Given the description of an element on the screen output the (x, y) to click on. 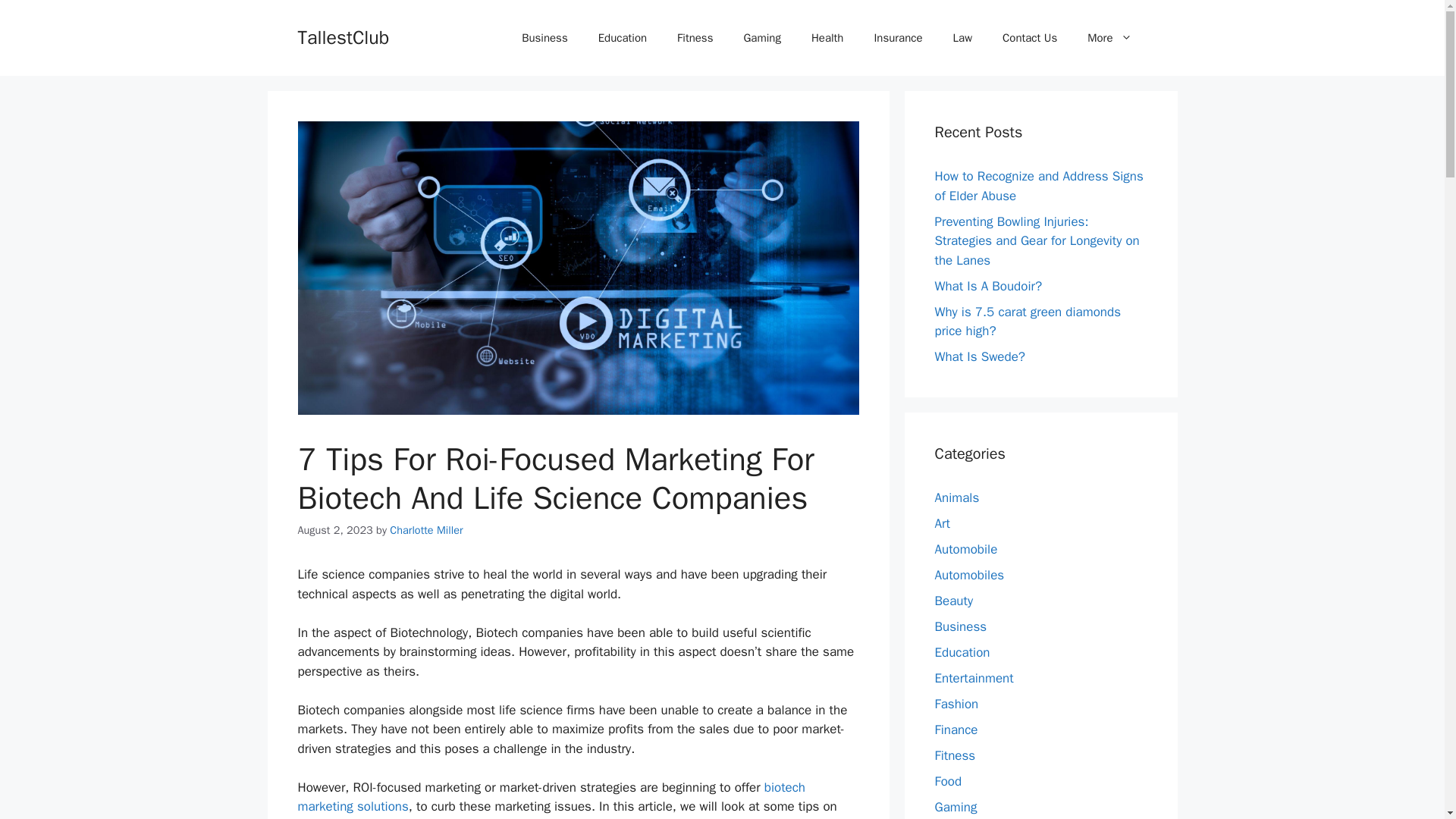
Health (827, 37)
Insurance (898, 37)
Education (622, 37)
More (1109, 37)
Fitness (695, 37)
View all posts by Charlotte Miller (426, 530)
Animals (956, 497)
Art (941, 523)
Charlotte Miller (426, 530)
biotech marketing solutions (551, 796)
What Is A Boudoir? (988, 285)
Gaming (761, 37)
TallestClub (342, 37)
Why is 7.5 carat green diamonds price high? (1027, 321)
Law (962, 37)
